Given the description of an element on the screen output the (x, y) to click on. 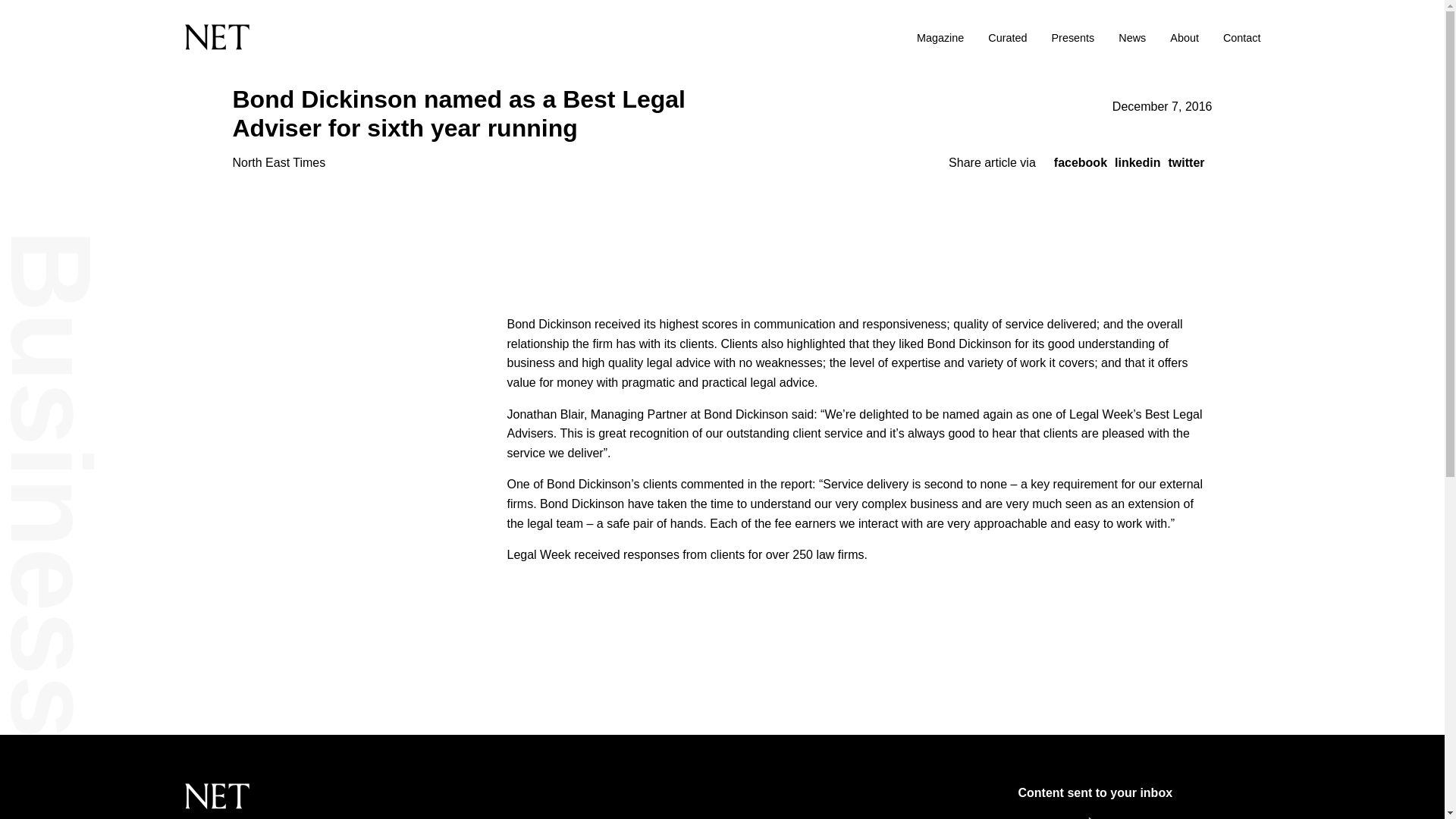
About (1184, 37)
Subscribe (1138, 816)
Presents (1072, 37)
News (1131, 37)
Share via Facebook (1080, 162)
linkedin (1137, 162)
Magazine (940, 37)
Return to the homepage (383, 37)
twitter (1185, 162)
Contact (1241, 37)
